Given the description of an element on the screen output the (x, y) to click on. 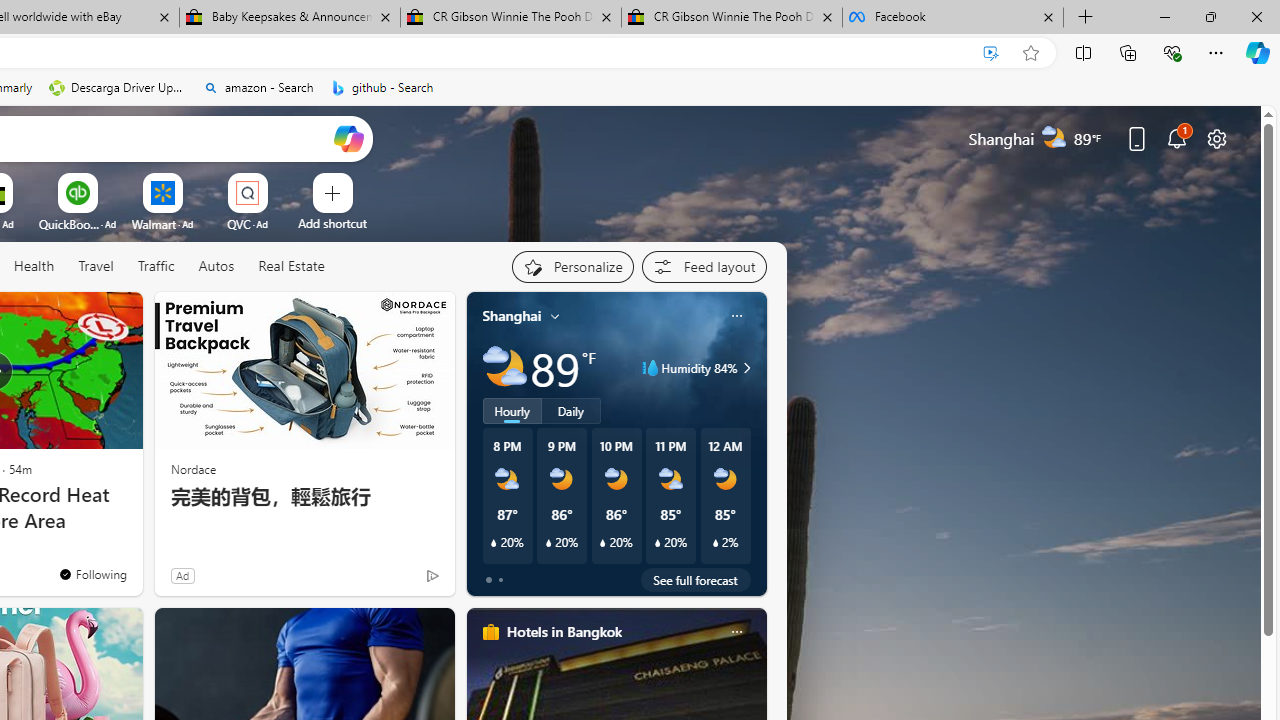
Hotels in Bangkok (563, 631)
Daily (571, 411)
Add a site (332, 223)
hotels-header-icon (490, 632)
Humidity 84% (744, 367)
Real Estate (291, 265)
github - Search (381, 88)
Descarga Driver Updater (118, 88)
Real Estate (290, 267)
Page settings (1216, 138)
